Given the description of an element on the screen output the (x, y) to click on. 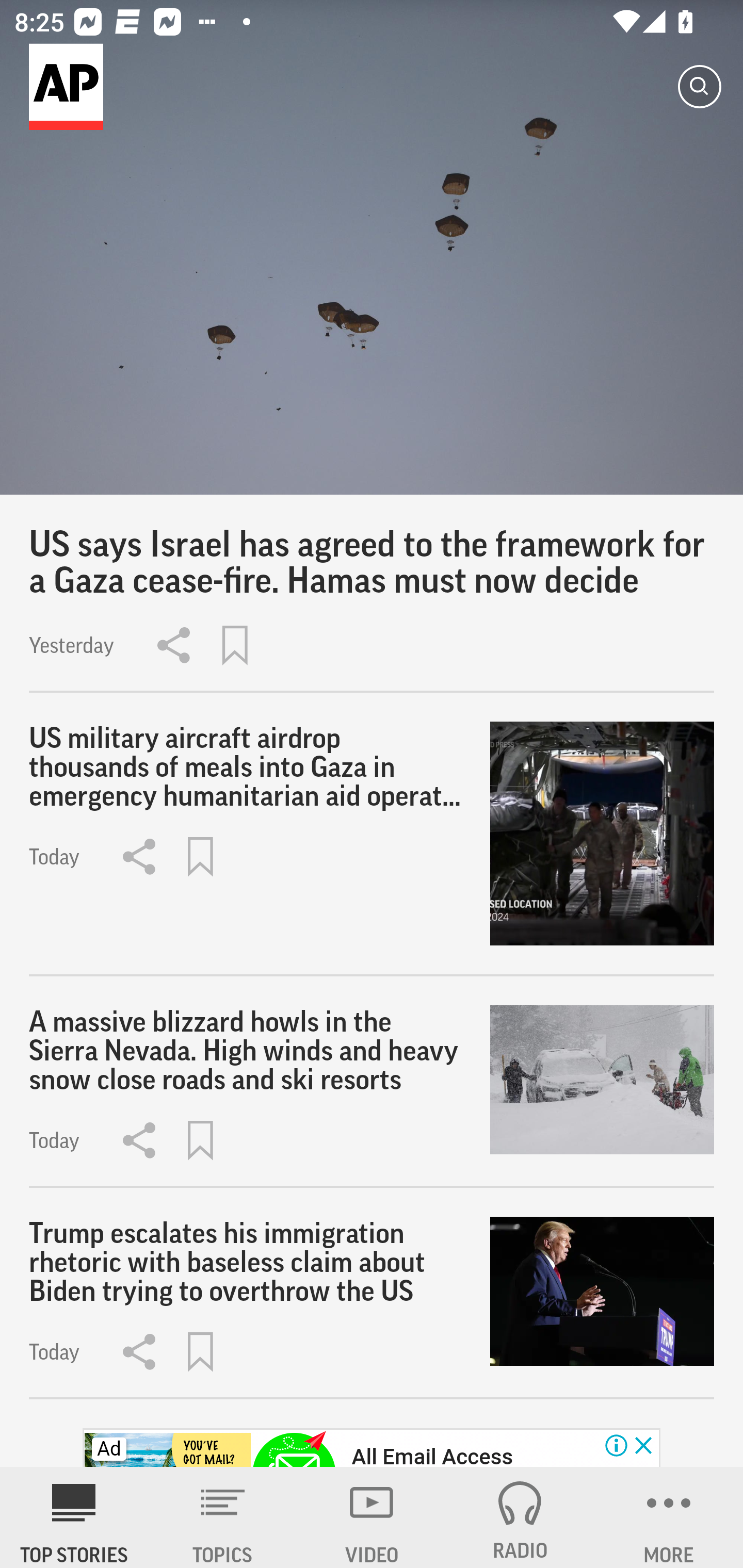
All Email Access (431, 1454)
AP News TOP STORIES (74, 1517)
TOPICS (222, 1517)
VIDEO (371, 1517)
RADIO (519, 1517)
MORE (668, 1517)
